Given the description of an element on the screen output the (x, y) to click on. 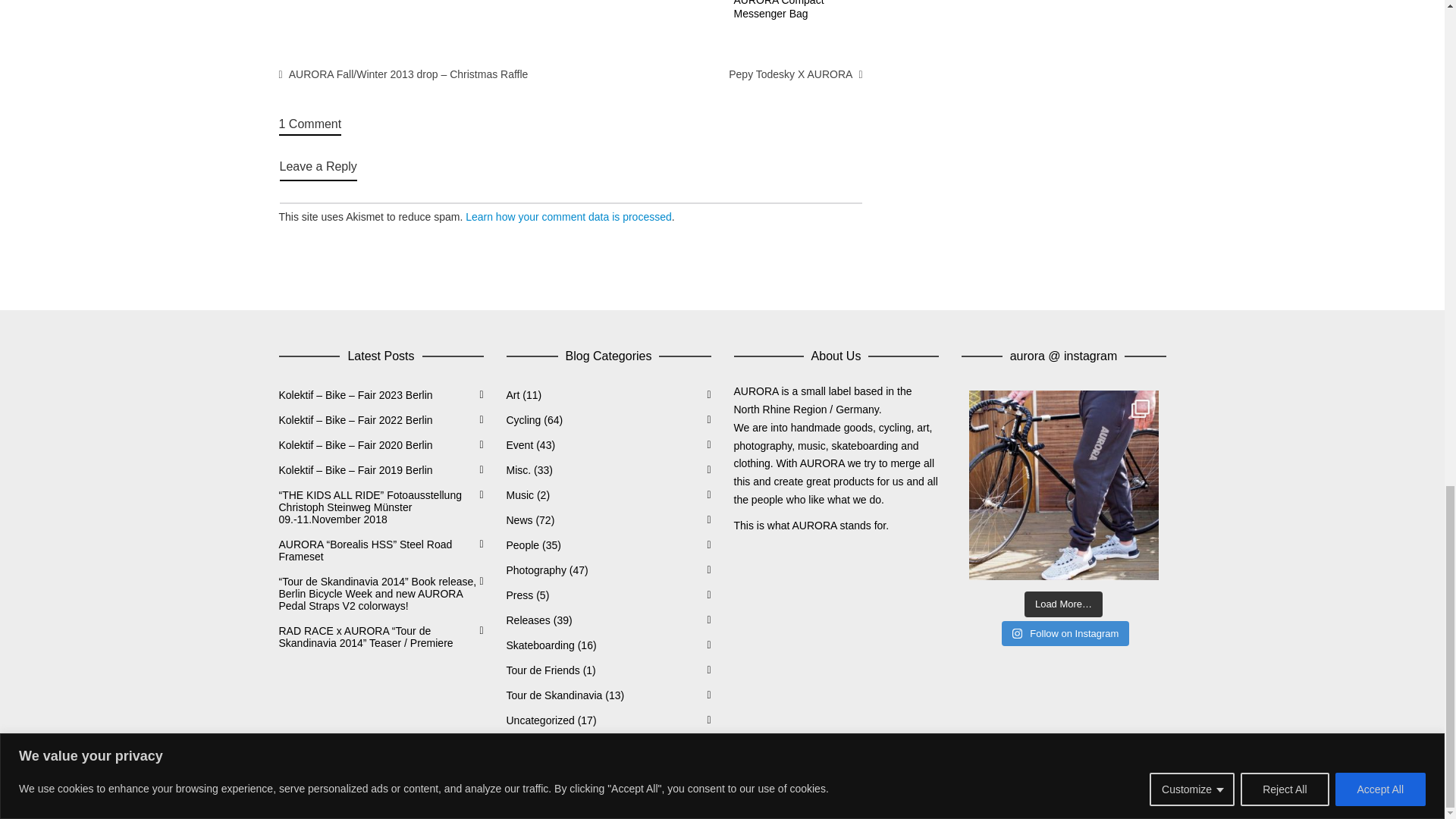
Permanent Link to AURORA Compact Messenger Bag (778, 9)
